Given the description of an element on the screen output the (x, y) to click on. 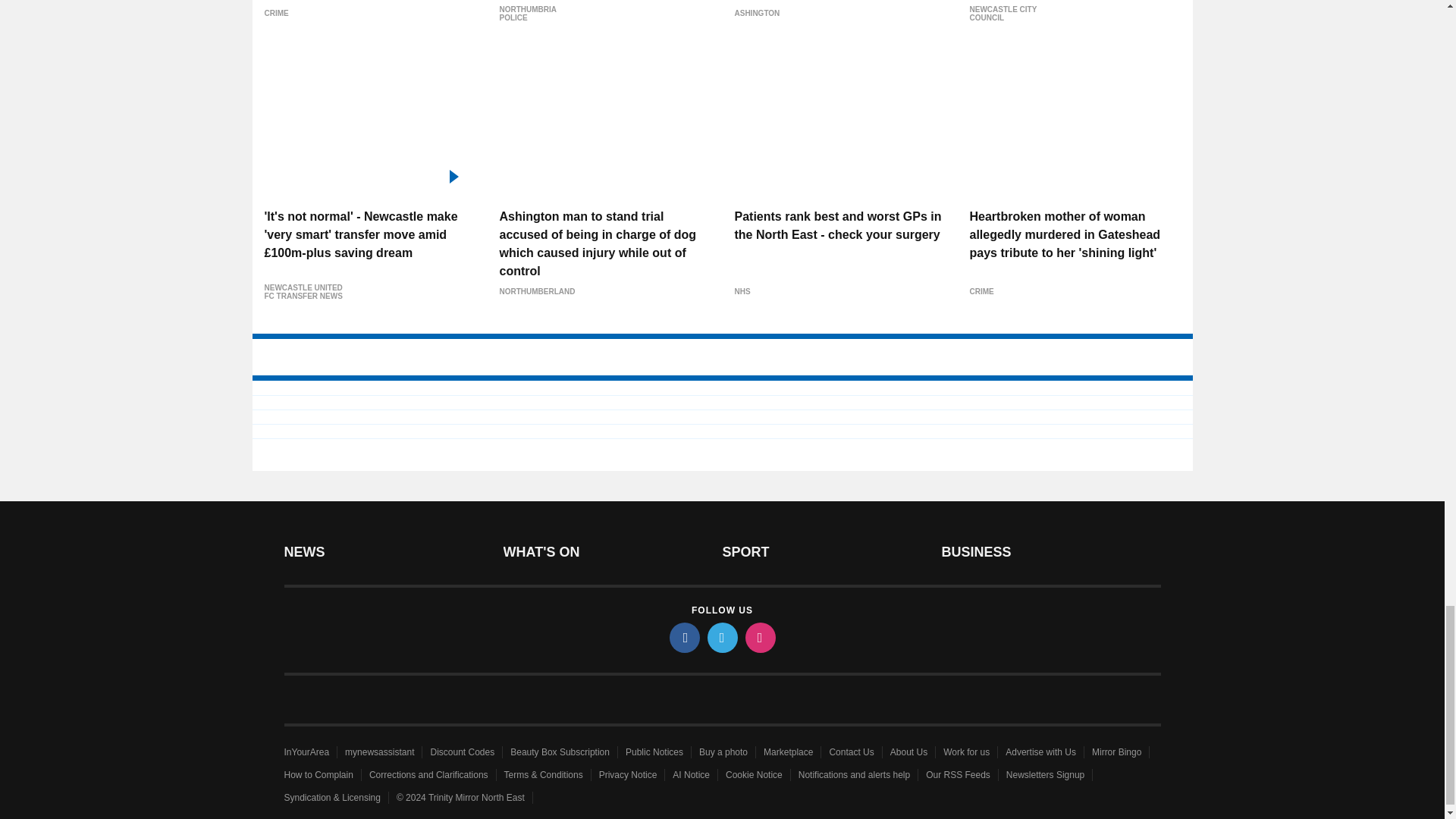
instagram (759, 637)
facebook (683, 637)
twitter (721, 637)
